Given the description of an element on the screen output the (x, y) to click on. 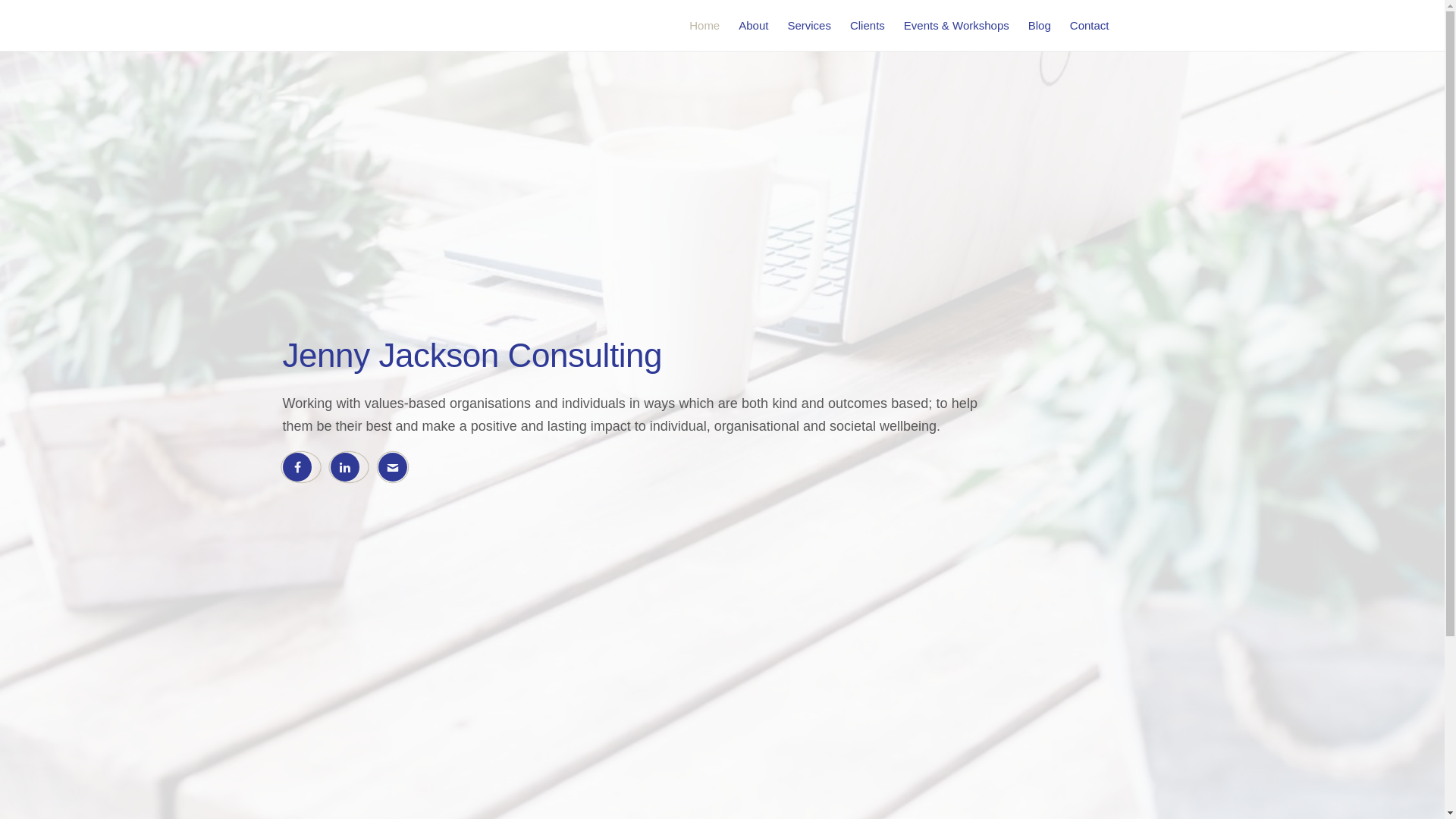
Clients Element type: text (867, 25)
Home Element type: text (704, 25)
About Element type: text (753, 25)
Blog Element type: text (1039, 25)
Events & Workshops Element type: text (956, 25)
Services Element type: text (808, 25)
Contact Element type: text (1089, 25)
